Given the description of an element on the screen output the (x, y) to click on. 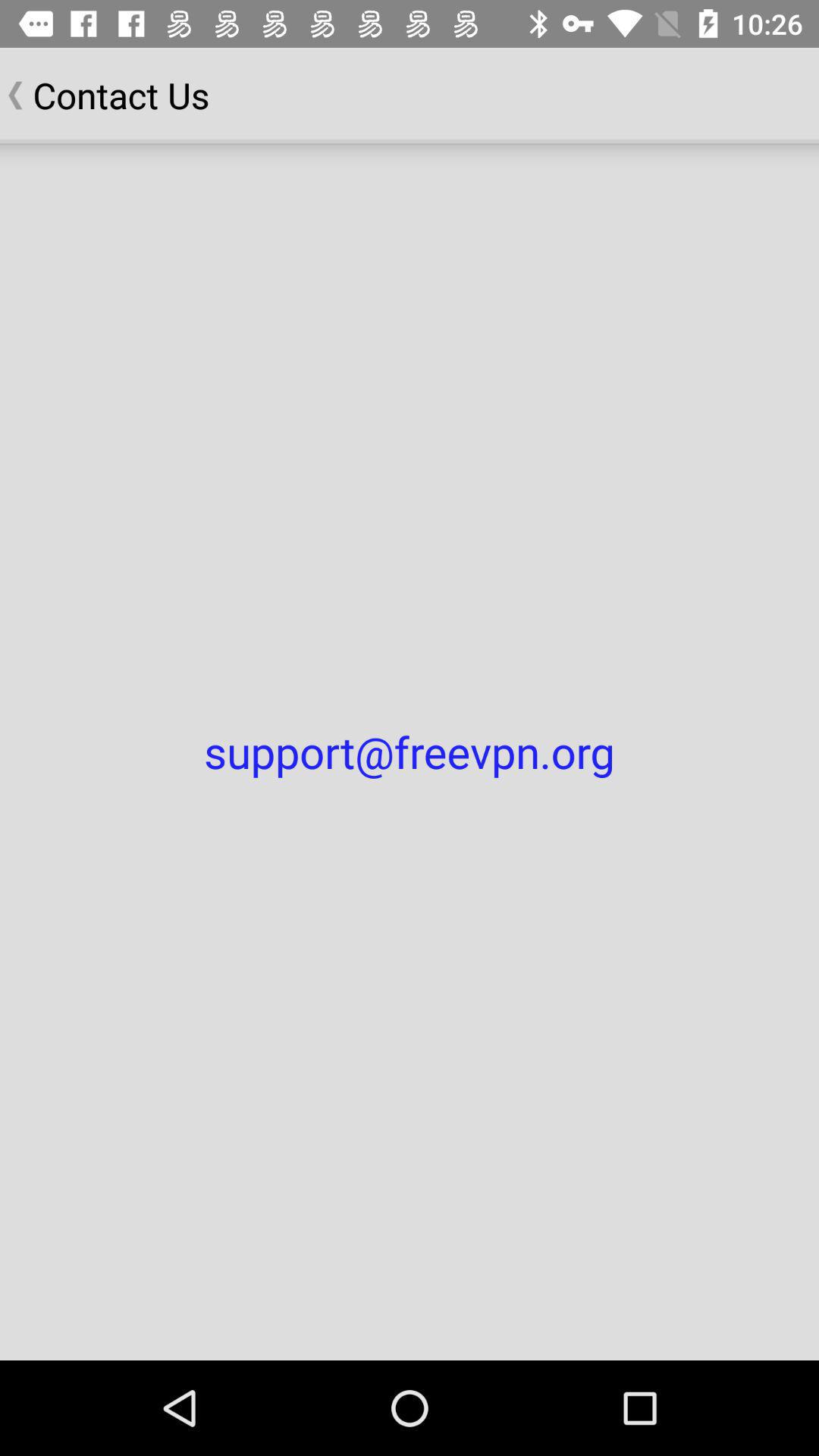
tap the item below the contact us app (409, 751)
